Given the description of an element on the screen output the (x, y) to click on. 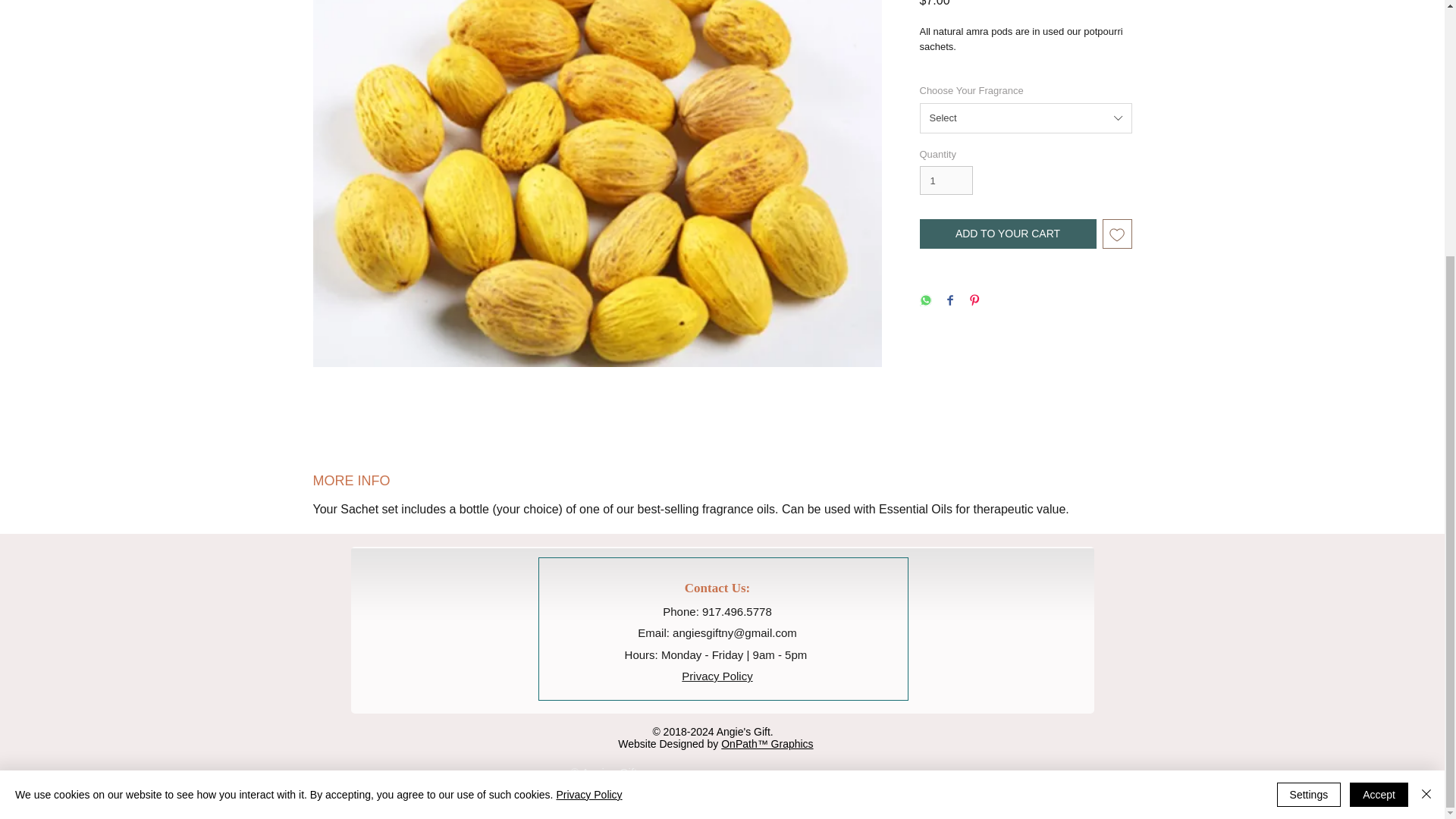
Settings (1308, 431)
Privacy Policy (588, 431)
Accept (1378, 431)
Select (1024, 118)
1 (945, 180)
ADD TO YOUR CART (1007, 233)
Privacy Policy (716, 675)
